Given the description of an element on the screen output the (x, y) to click on. 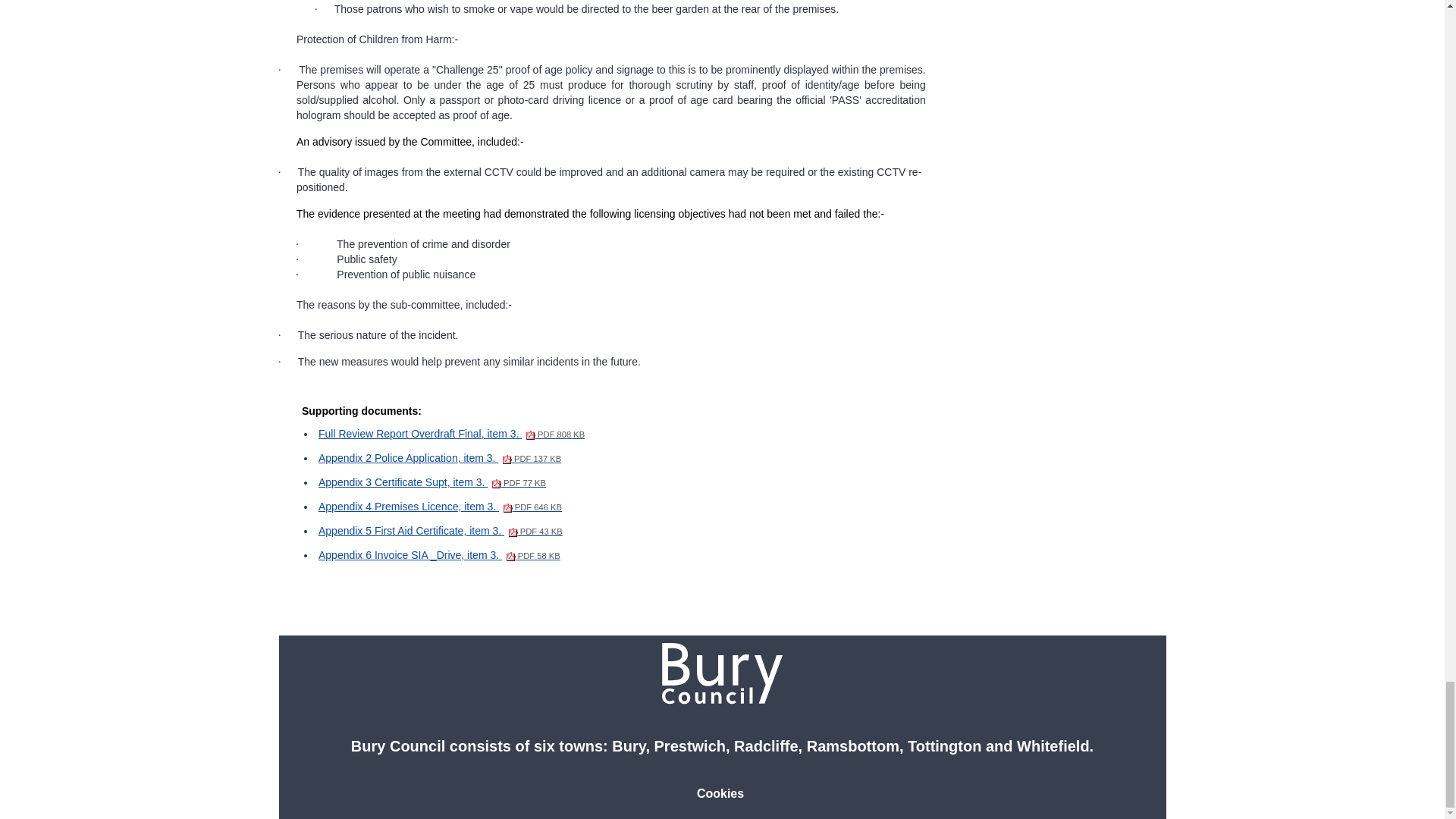
Link to document 'Appendix 5 First Aid Certificate' pdf file (440, 530)
Full Review Report Overdraft Final, item 3. PDF 808 KB (451, 433)
Appendix 3 Certificate Supt, item 3. PDF 77 KB (432, 481)
Link to document 'Appendix 4 Premises Licence' pdf file (440, 506)
Appendix 4 Premises Licence, item 3. PDF 646 KB (440, 506)
Link to document 'Appendix 2 Police Application' pdf file (439, 458)
Appendix 2 Police Application, item 3. PDF 137 KB (439, 458)
Appendix 5 First Aid Certificate, item 3. PDF 43 KB (440, 530)
Link to document 'Appendix 3 Certificate Supt' pdf file (432, 481)
